Given the description of an element on the screen output the (x, y) to click on. 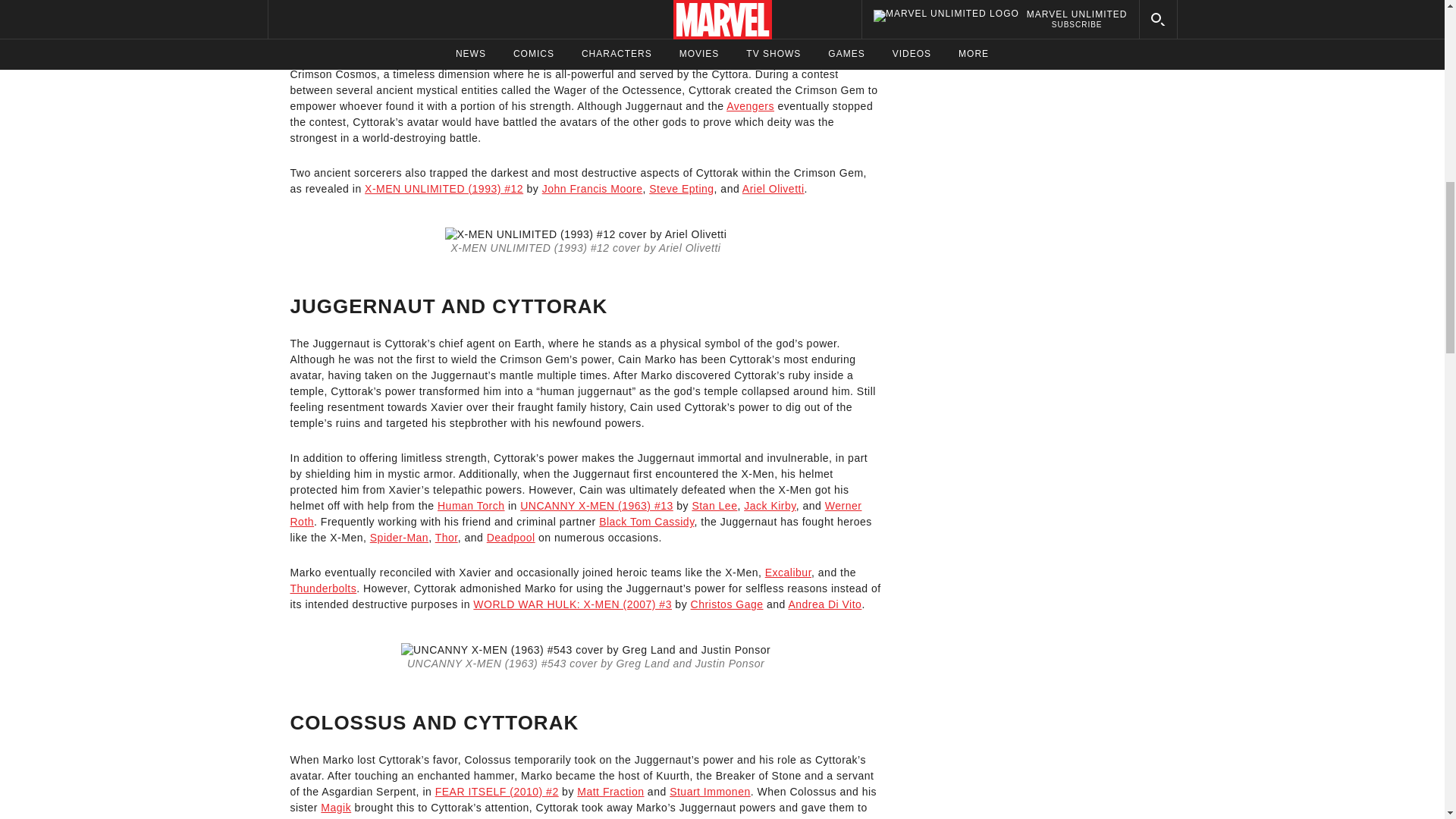
Ariel Olivetti (773, 188)
Geof Isherwood (353, 7)
Steve Epting (681, 188)
Avengers (750, 105)
John Francis Moore (592, 188)
